Given the description of an element on the screen output the (x, y) to click on. 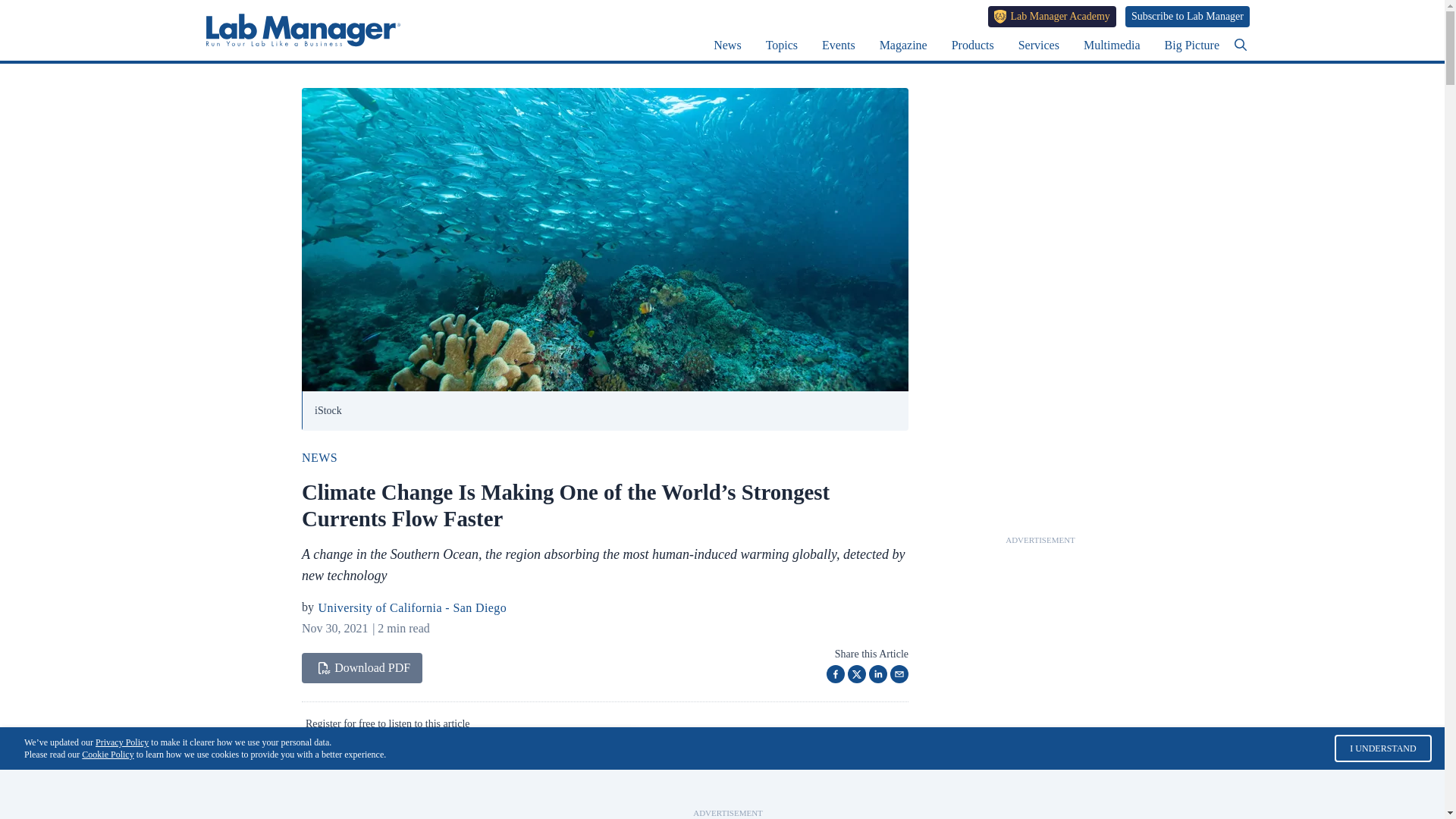
Lab Manager Academy (1052, 16)
Subscribe to Lab Manager (1187, 16)
3rd party ad content (728, 789)
News (726, 45)
Topics (781, 45)
3rd party ad content (1040, 792)
